Given the description of an element on the screen output the (x, y) to click on. 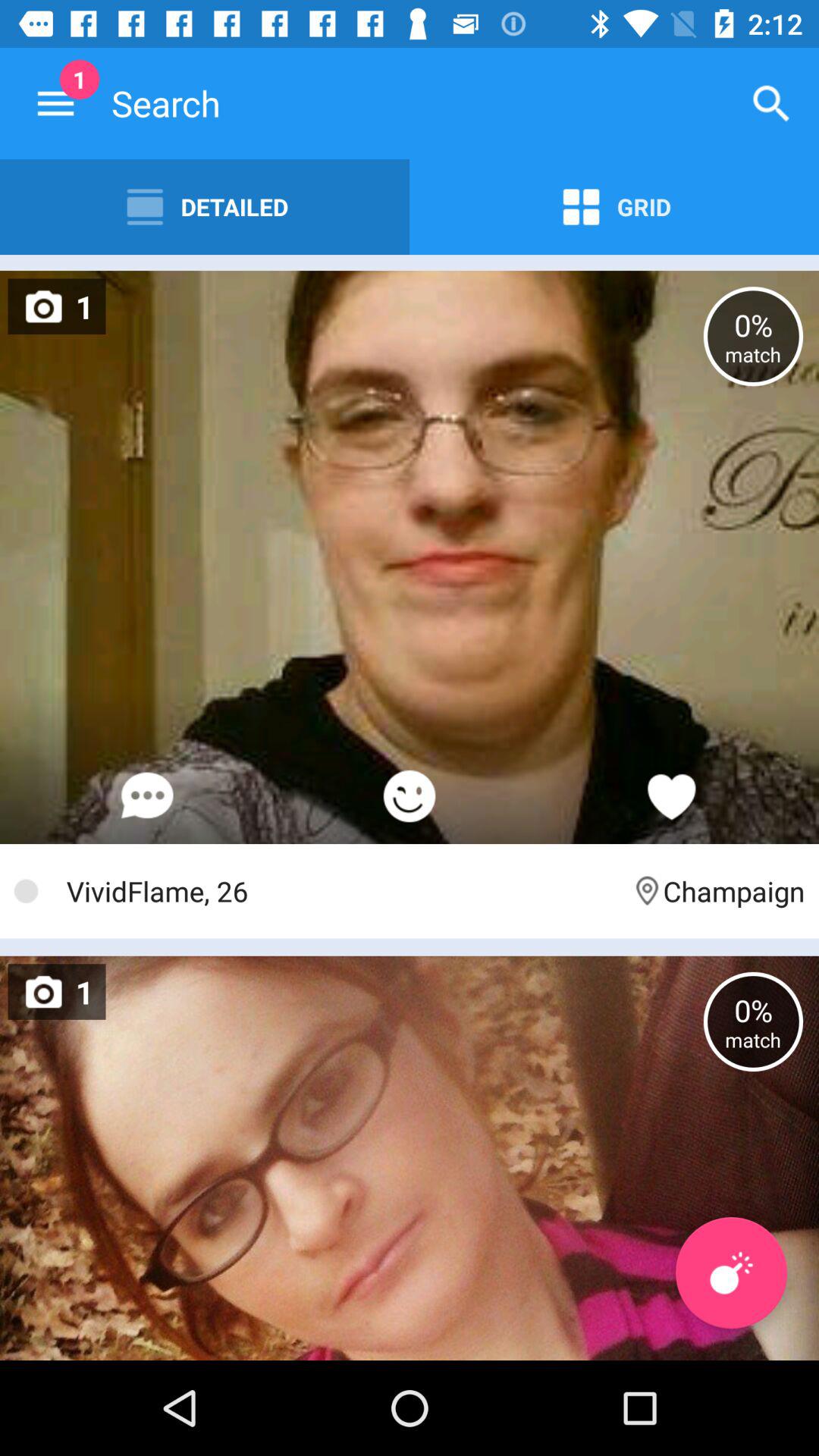
turn on champaign (717, 891)
